Given the description of an element on the screen output the (x, y) to click on. 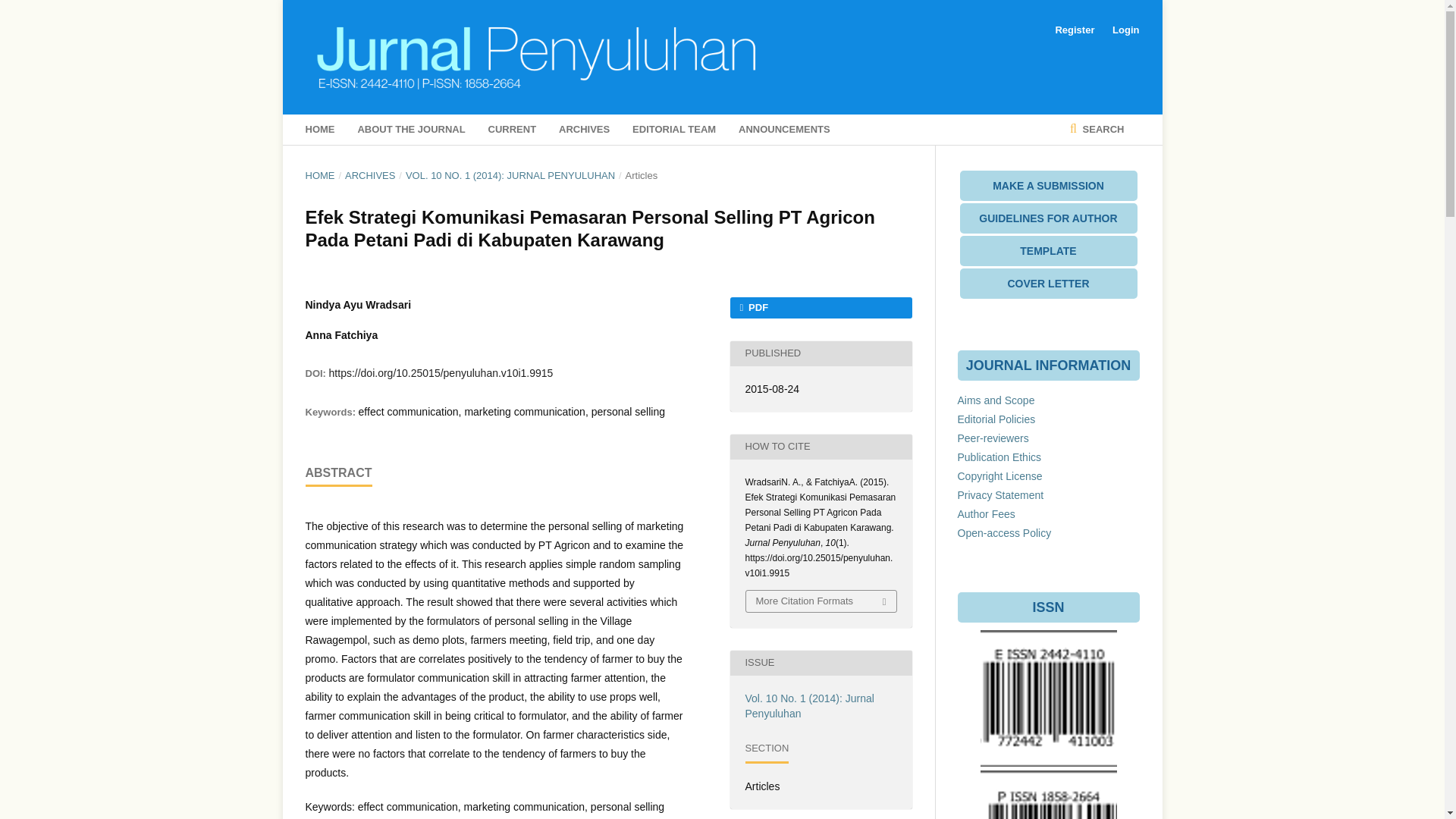
HOME (319, 175)
Register (1074, 29)
EDITORIAL TEAM (673, 129)
More Citation Formats (820, 600)
E-ISSN (1047, 762)
ABOUT THE JOURNAL (410, 129)
PDF (820, 307)
SEARCH (1096, 129)
CURRENT (512, 129)
ANNOUNCEMENTS (783, 129)
